Given the description of an element on the screen output the (x, y) to click on. 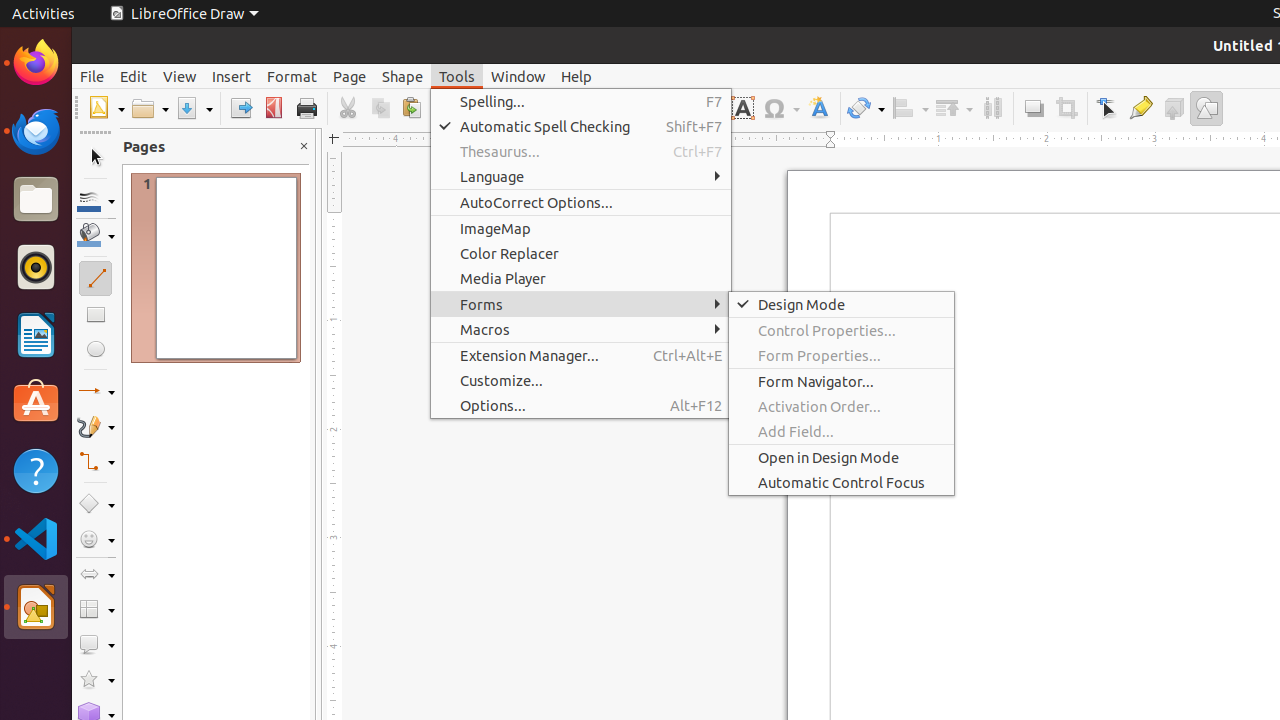
Line Color Element type: push-button (96, 200)
Tools Element type: menu (457, 76)
Thesaurus... Element type: menu-item (581, 151)
Edit Element type: menu (133, 76)
Open Element type: push-button (150, 108)
